Given the description of an element on the screen output the (x, y) to click on. 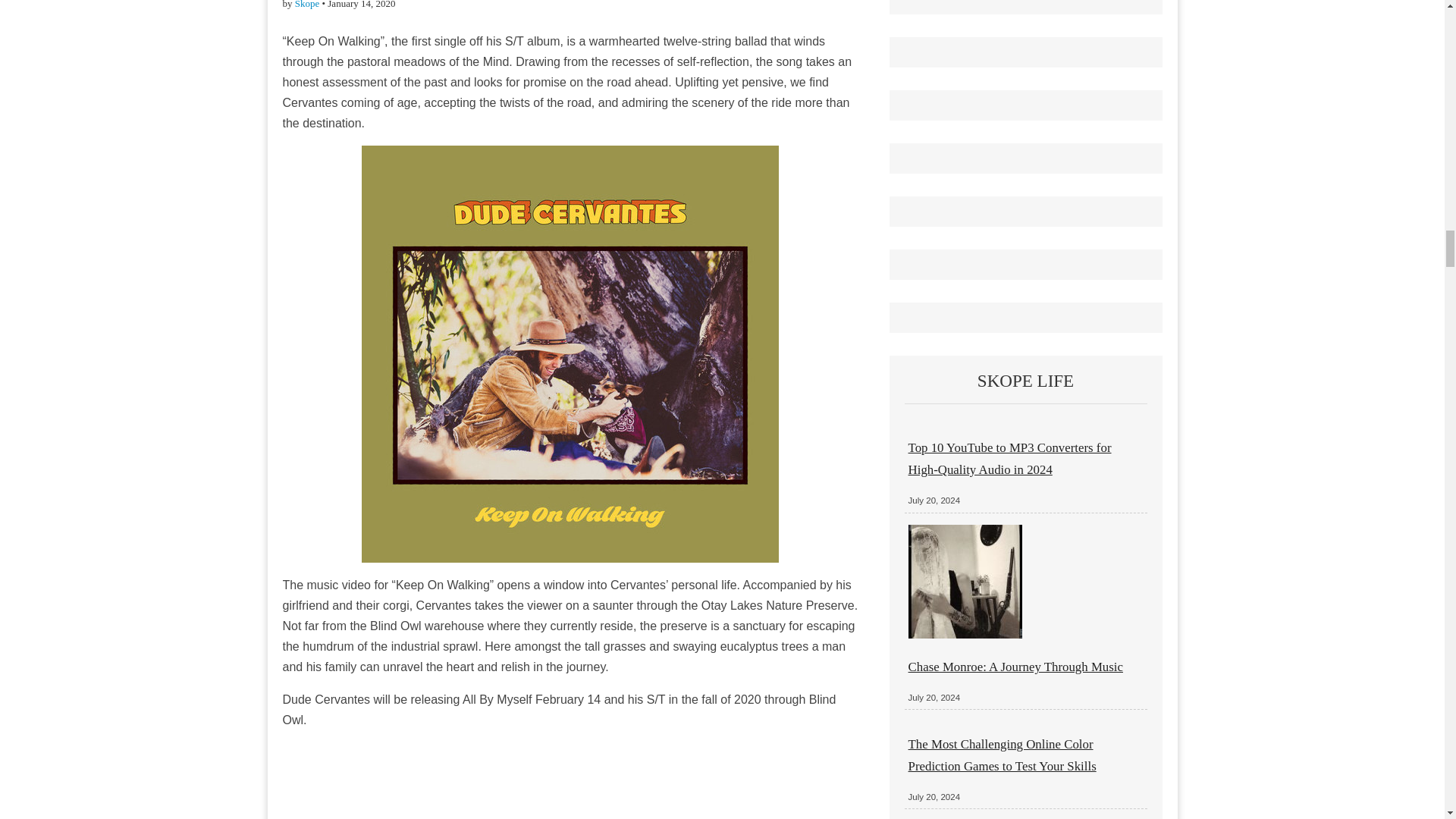
Skope (307, 4)
Chase Monroe: A Journey Through Music (1015, 667)
Posts by Skope (307, 4)
